Given the description of an element on the screen output the (x, y) to click on. 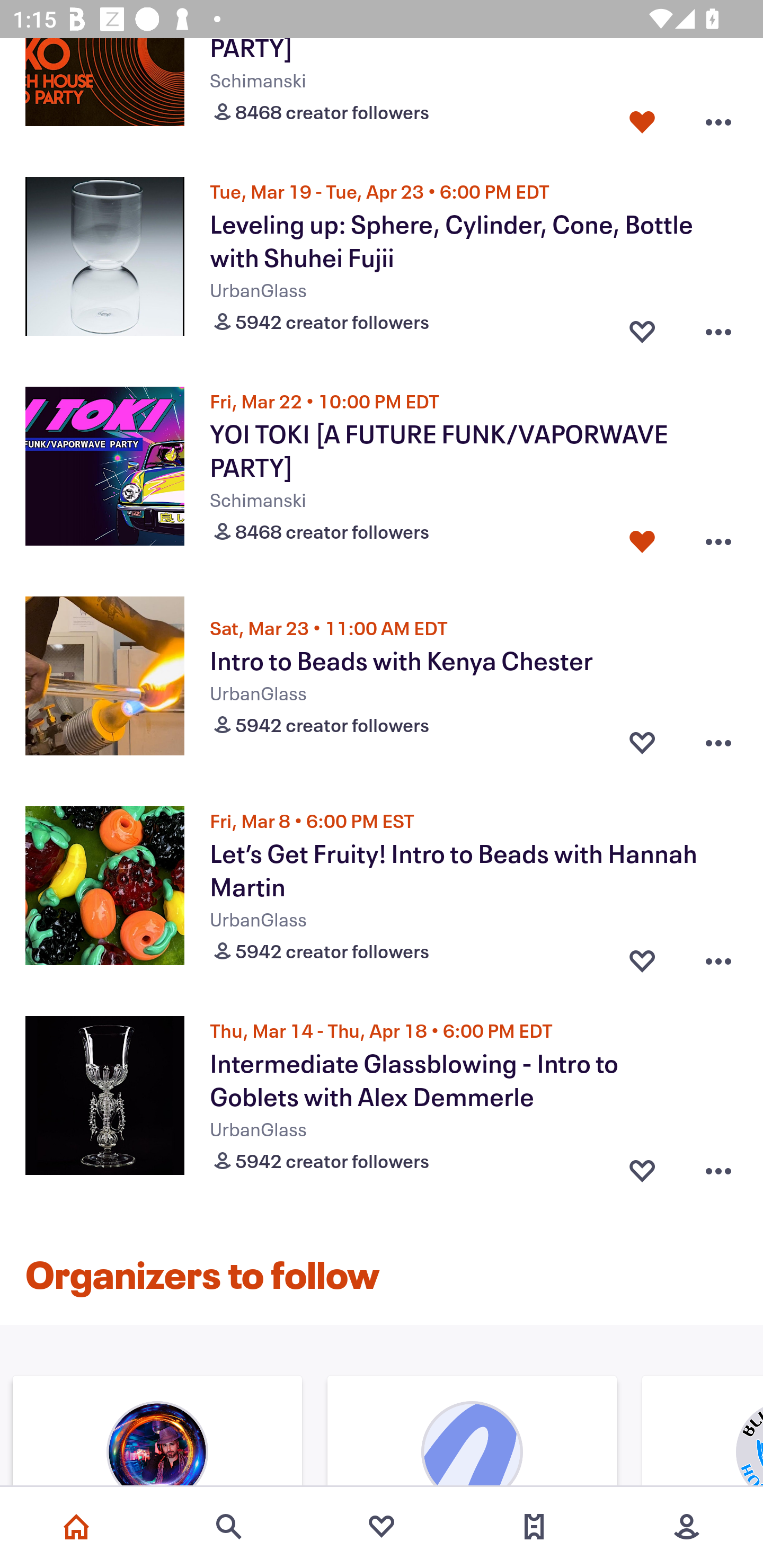
Home (76, 1526)
Search events (228, 1526)
Favorites (381, 1526)
Tickets (533, 1526)
More (686, 1526)
